Given the description of an element on the screen output the (x, y) to click on. 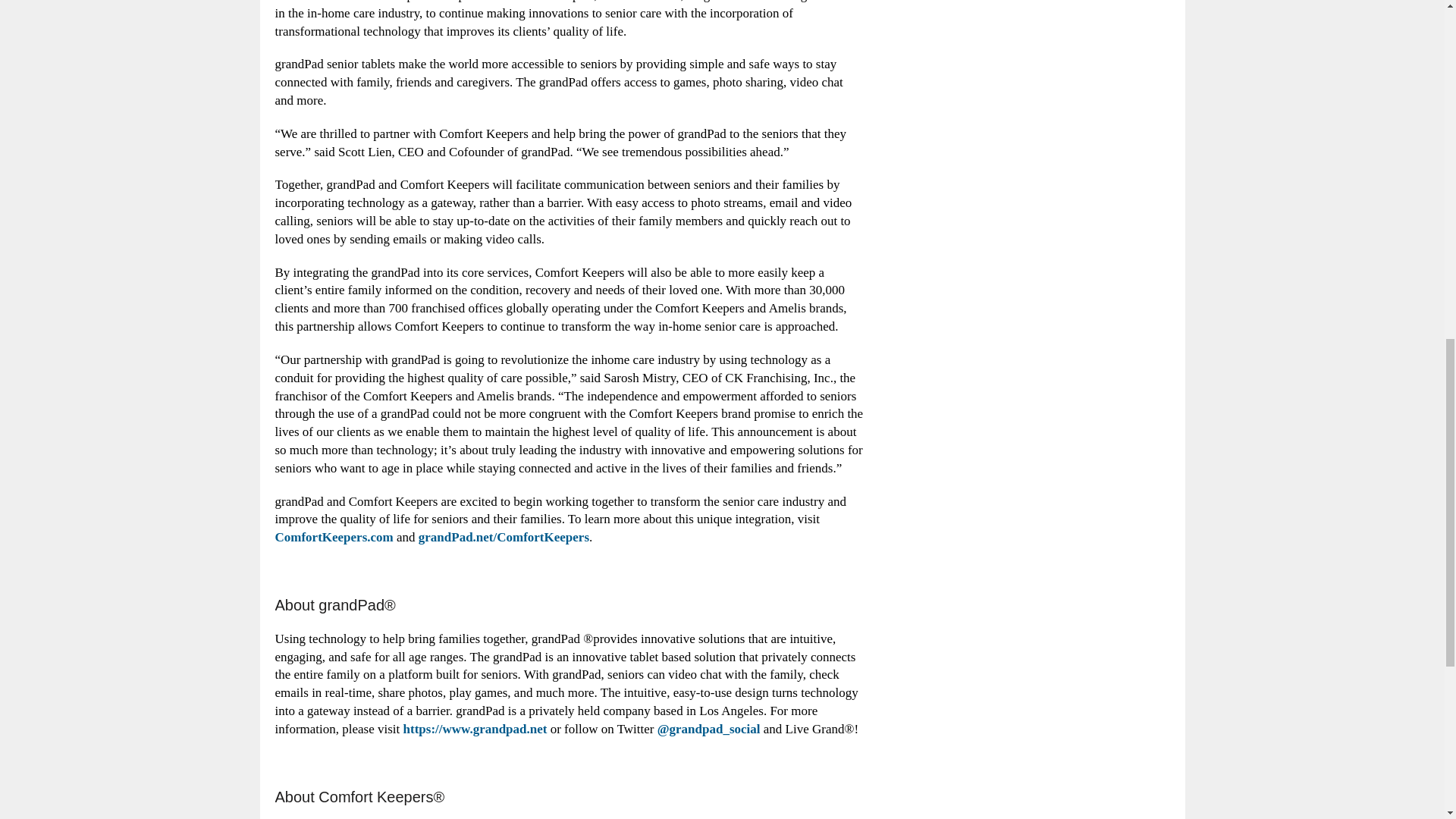
ComfortKeepers.com (334, 536)
